Given the description of an element on the screen output the (x, y) to click on. 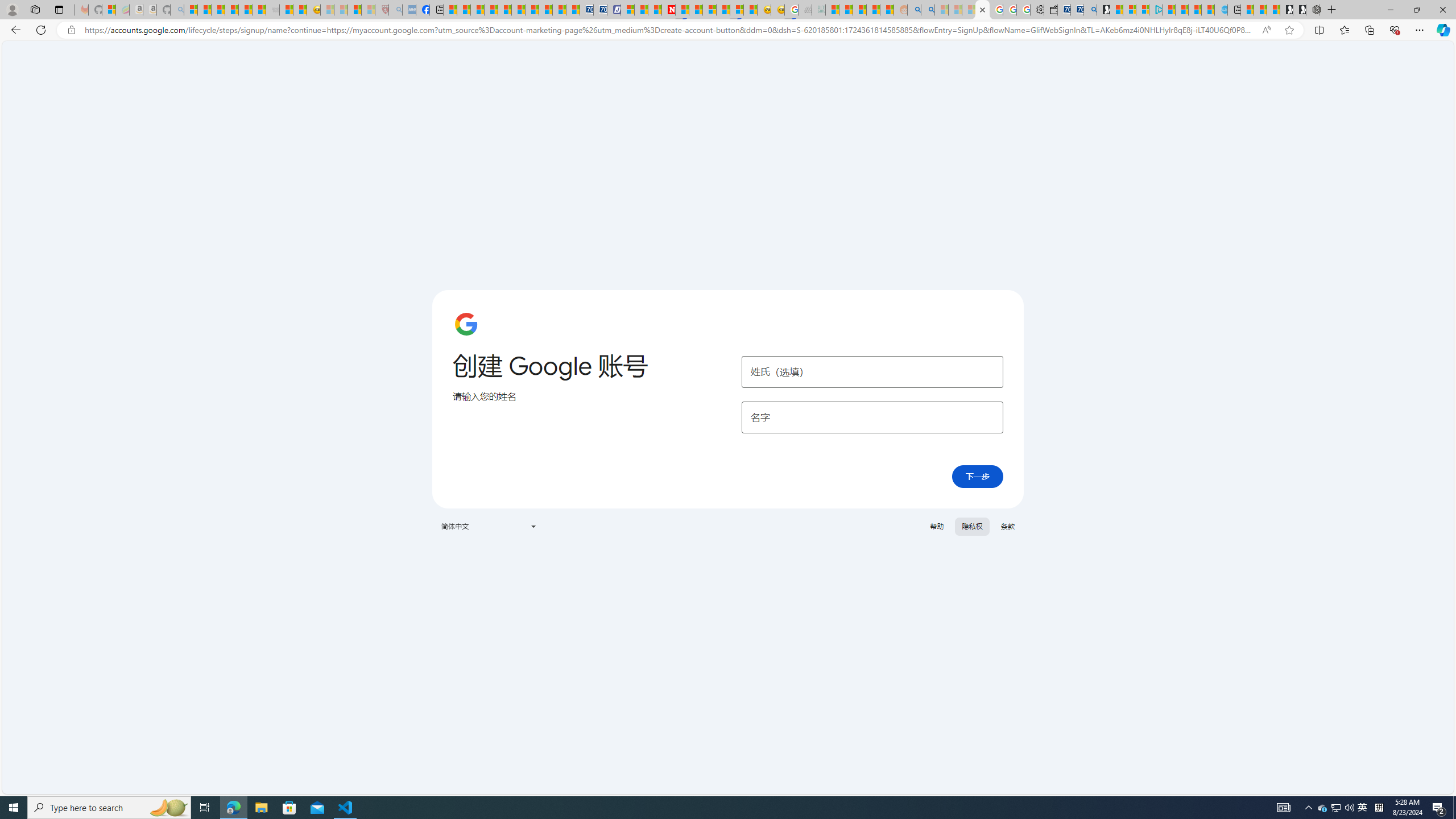
Bing Real Estate - Home sales and rental listings (1090, 9)
Class: VfPpkd-t08AT-Bz112c-Bd00G (532, 526)
Combat Siege - Sleeping (271, 9)
